Given the description of an element on the screen output the (x, y) to click on. 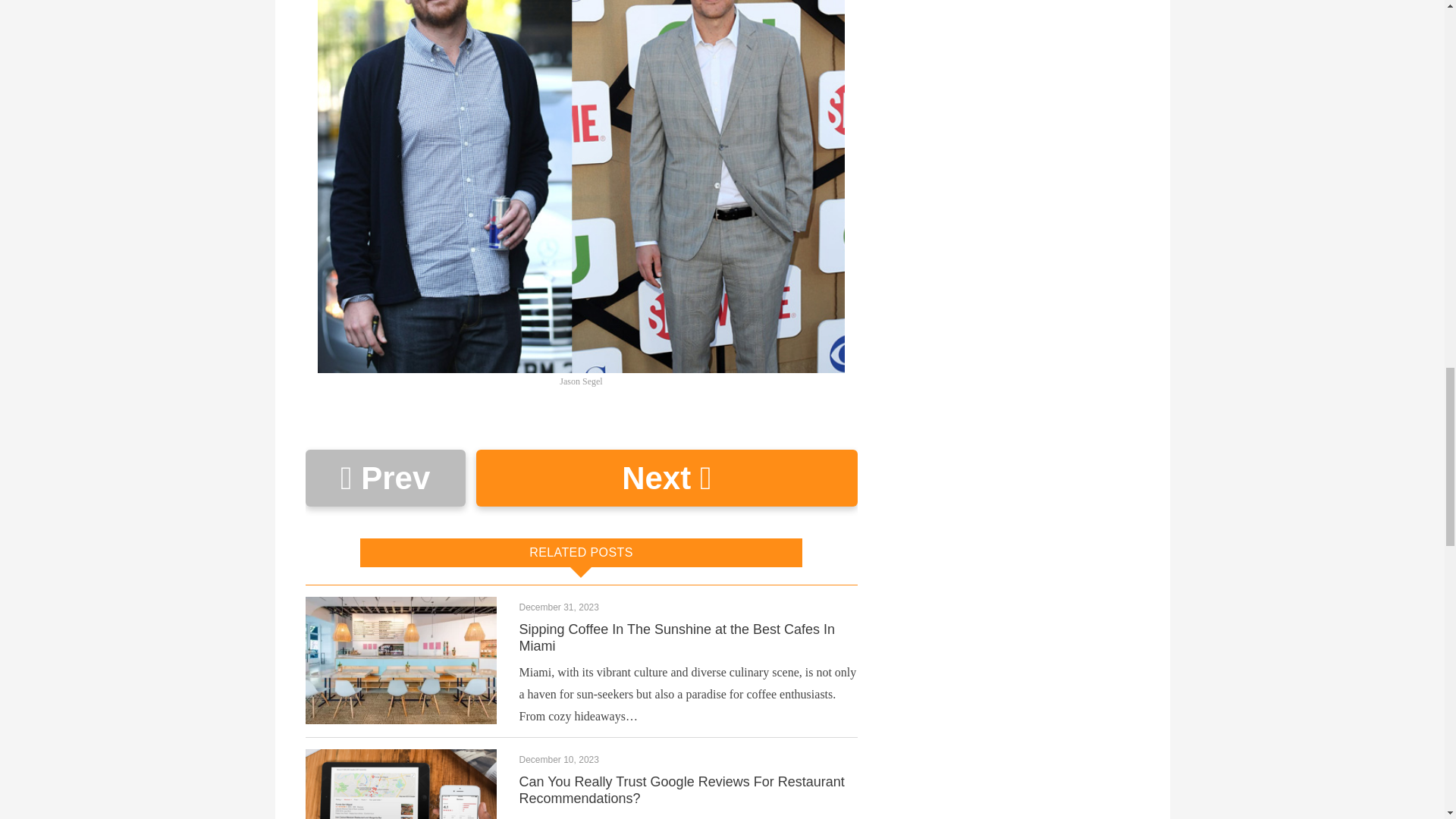
Next (666, 477)
Prev (384, 477)
Sipping Coffee In The Sunshine at the Best Cafes In Miami (676, 637)
